Given the description of an element on the screen output the (x, y) to click on. 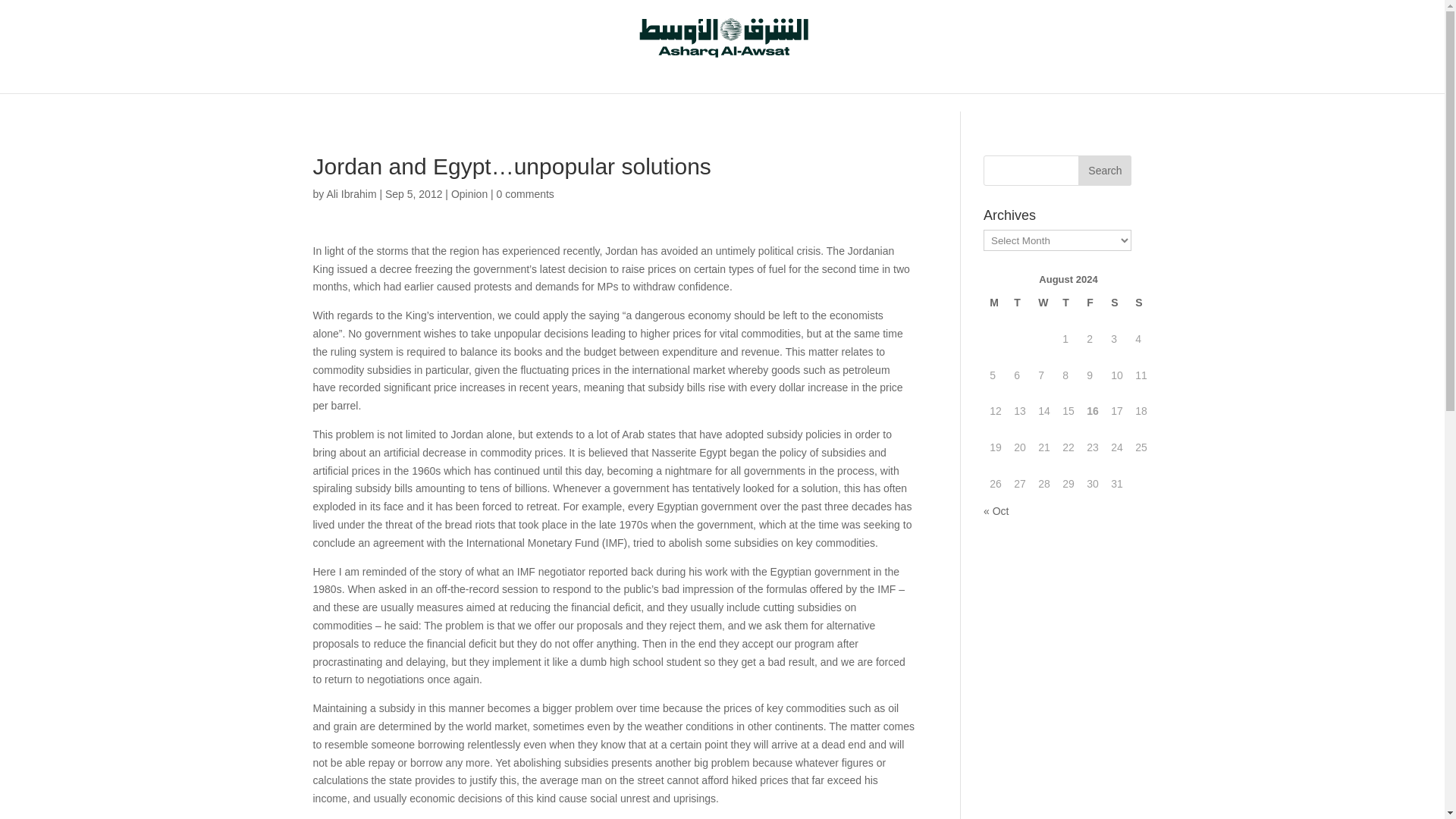
Search (1104, 170)
0 comments (525, 193)
Opinion (469, 193)
Posts by Ali Ibrahim (350, 193)
Search (1104, 170)
Ali Ibrahim (350, 193)
